Given the description of an element on the screen output the (x, y) to click on. 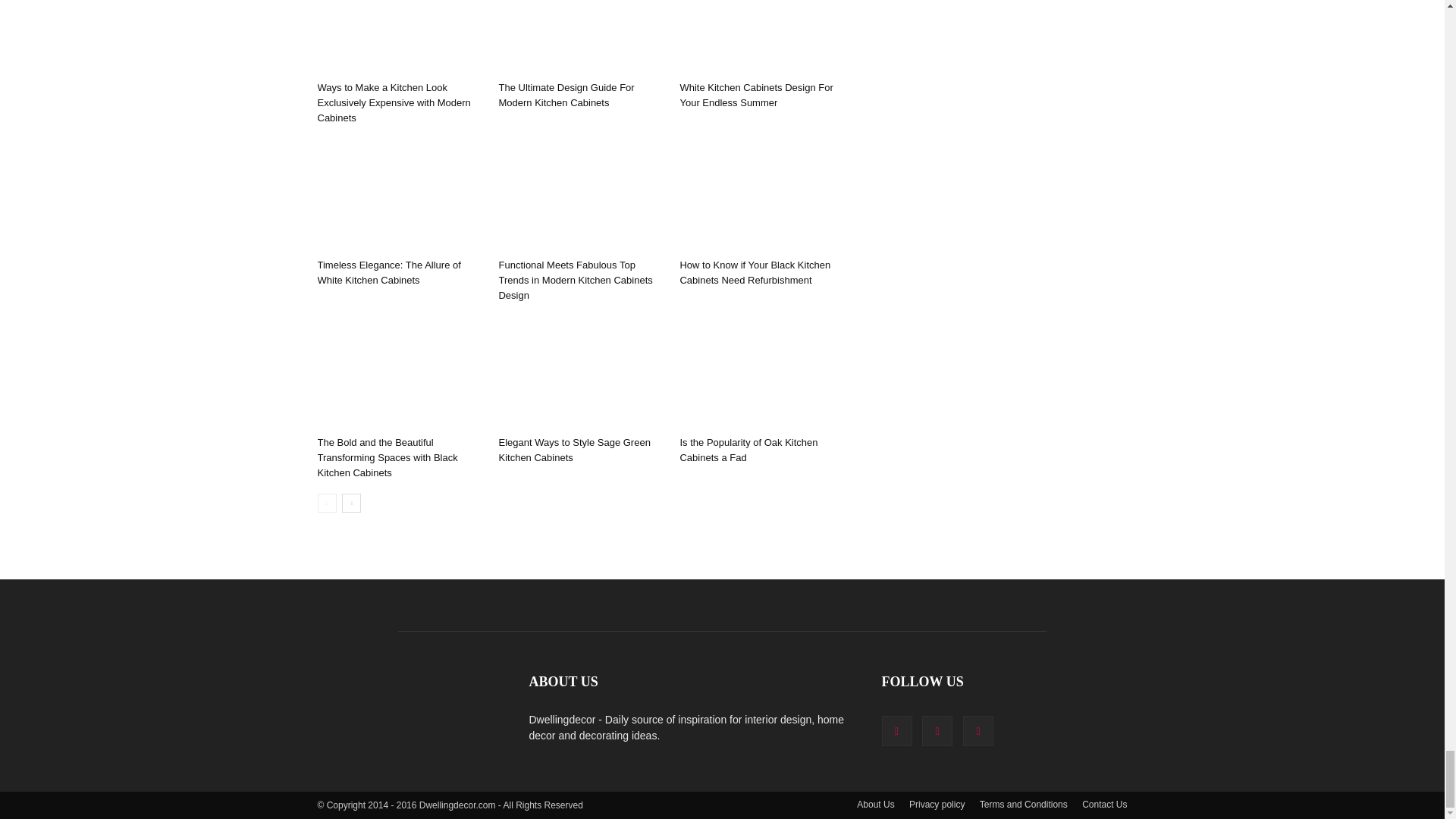
The Ultimate Design Guide For Modern Kitchen Cabinets (580, 37)
The Ultimate Design Guide For Modern Kitchen Cabinets (565, 94)
